Given the description of an element on the screen output the (x, y) to click on. 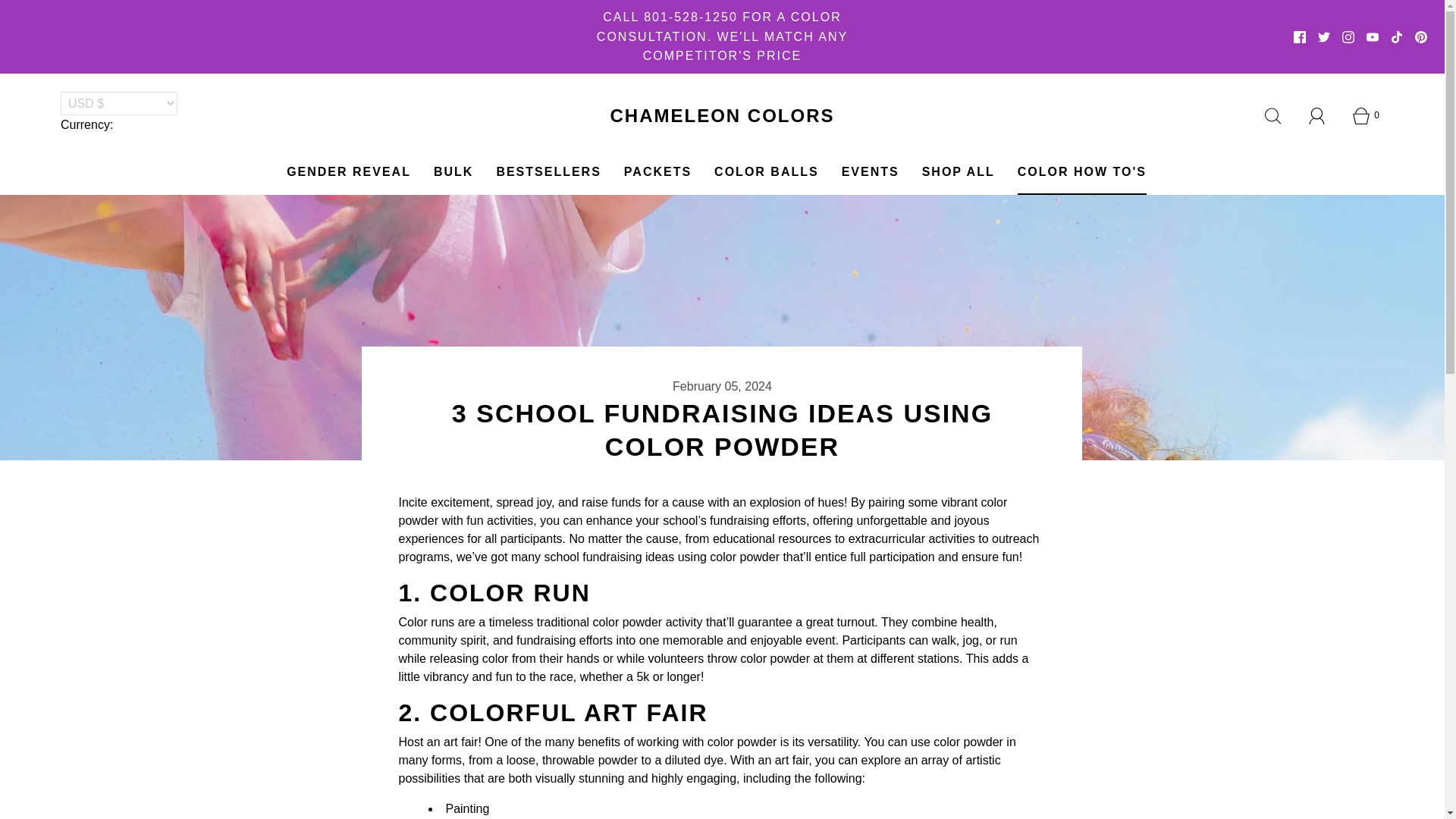
PINTEREST ICON (1420, 37)
Log in (1316, 115)
Cart (1366, 116)
INSTAGRAM ICON (1348, 37)
TWITTER ICON (1323, 37)
Search (1272, 116)
TIKTOK ICON (1396, 37)
TWITTER ICON (1323, 37)
FACEBOOK ICON (1300, 37)
PINTEREST ICON (1420, 37)
YOUTUBE ICON (1372, 37)
FACEBOOK ICON (1300, 37)
YOUTUBE ICON (1372, 37)
INSTAGRAM ICON (1348, 37)
